Given the description of an element on the screen output the (x, y) to click on. 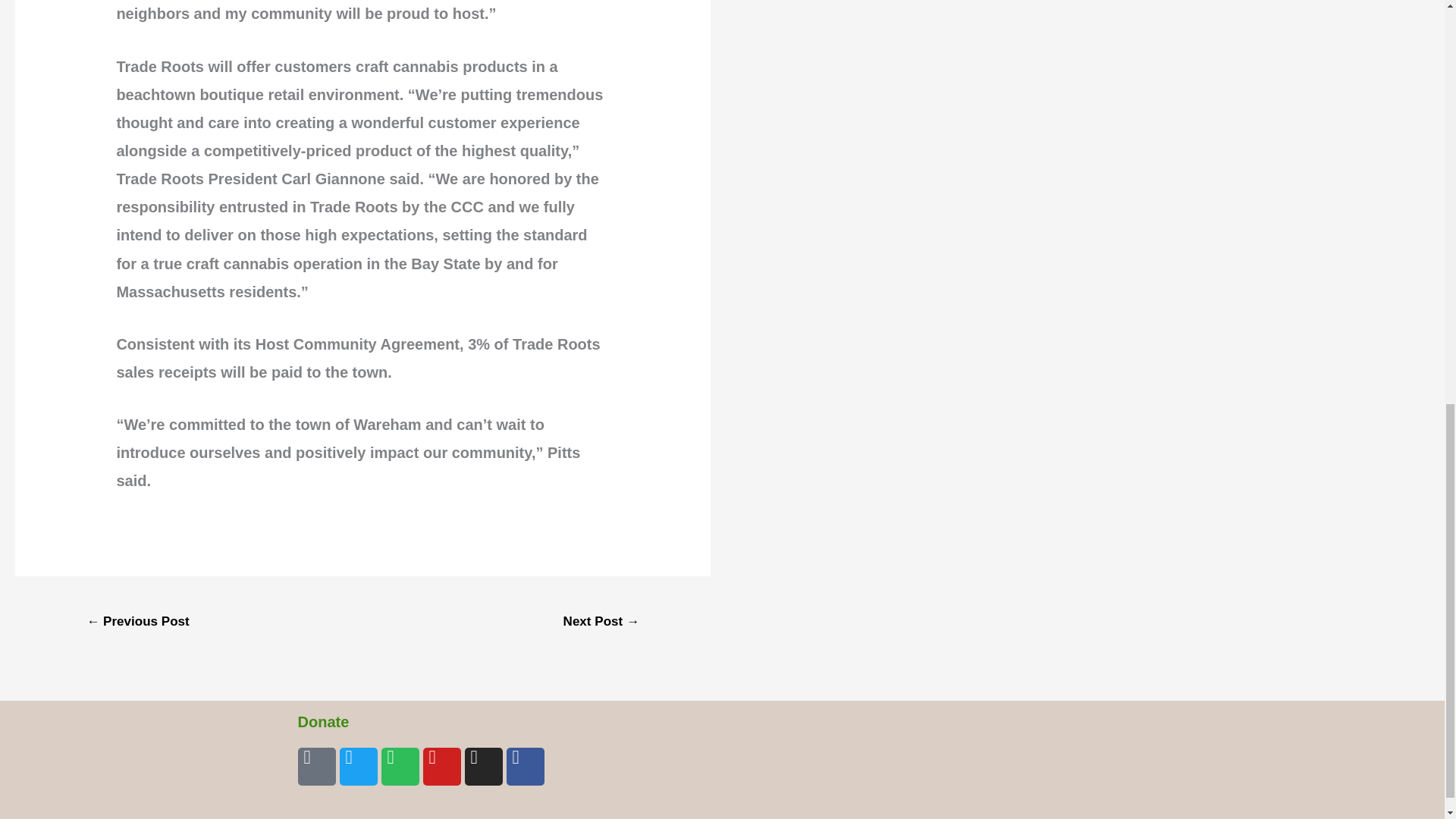
Donate (323, 721)
